Given the description of an element on the screen output the (x, y) to click on. 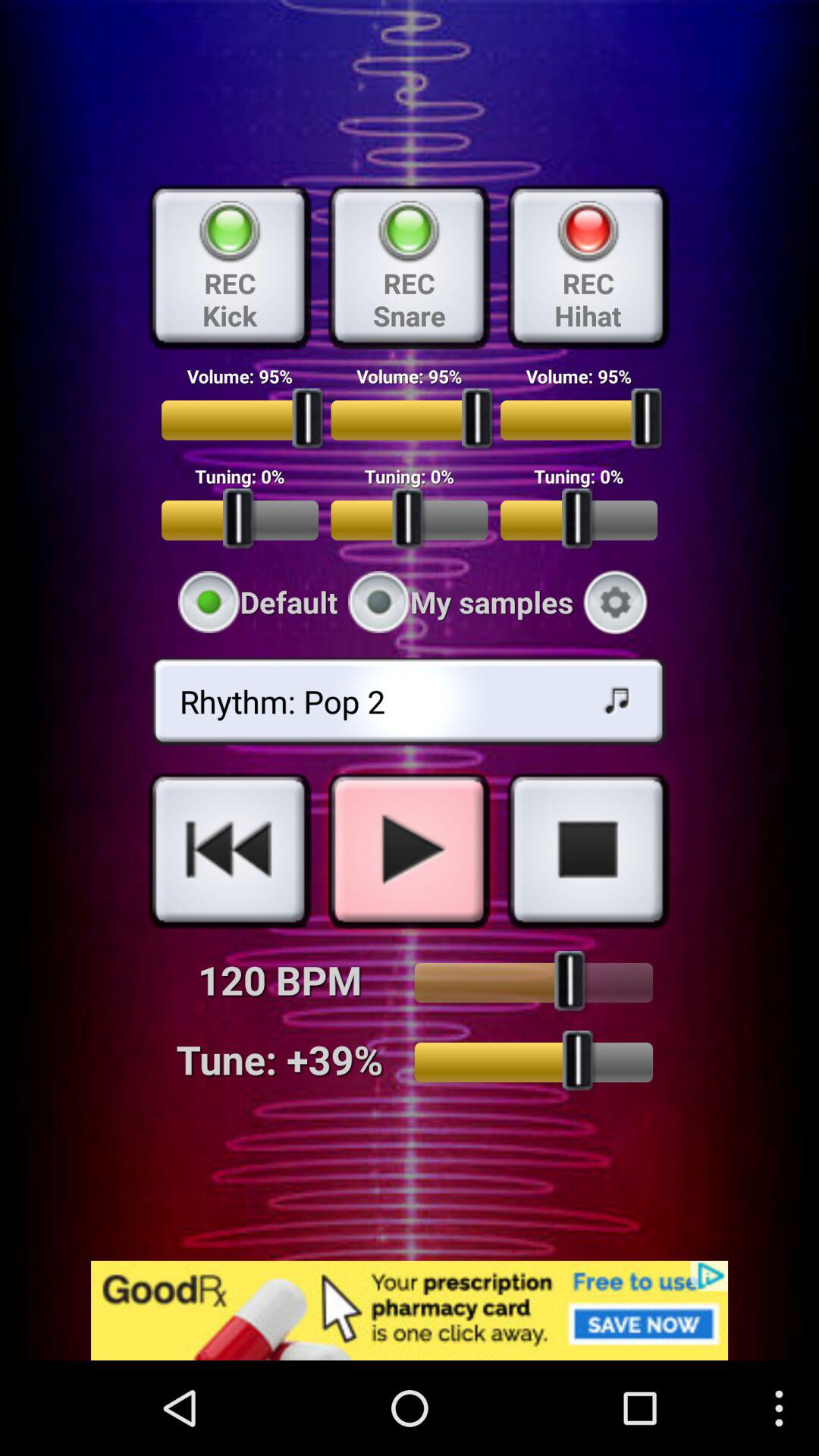
select the add image (409, 1310)
